Given the description of an element on the screen output the (x, y) to click on. 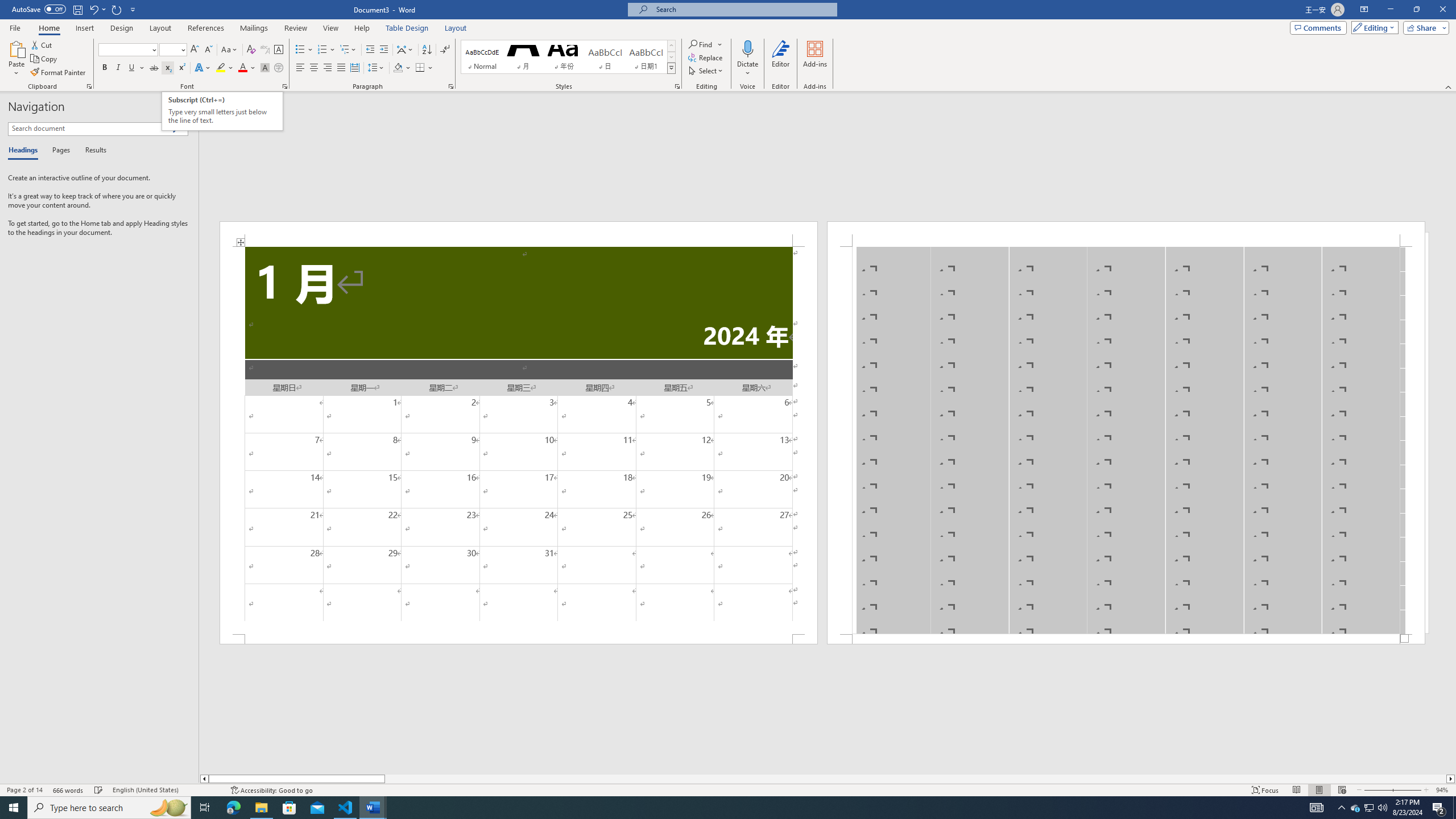
Font Color (246, 67)
Subscript (167, 67)
Search document (89, 128)
Styles... (676, 85)
Row Down (670, 56)
Shading RGB(0, 0, 0) (397, 67)
Center (313, 67)
Styles (670, 67)
Superscript (180, 67)
Page Number Page 2 of 14 (24, 790)
